Given the description of an element on the screen output the (x, y) to click on. 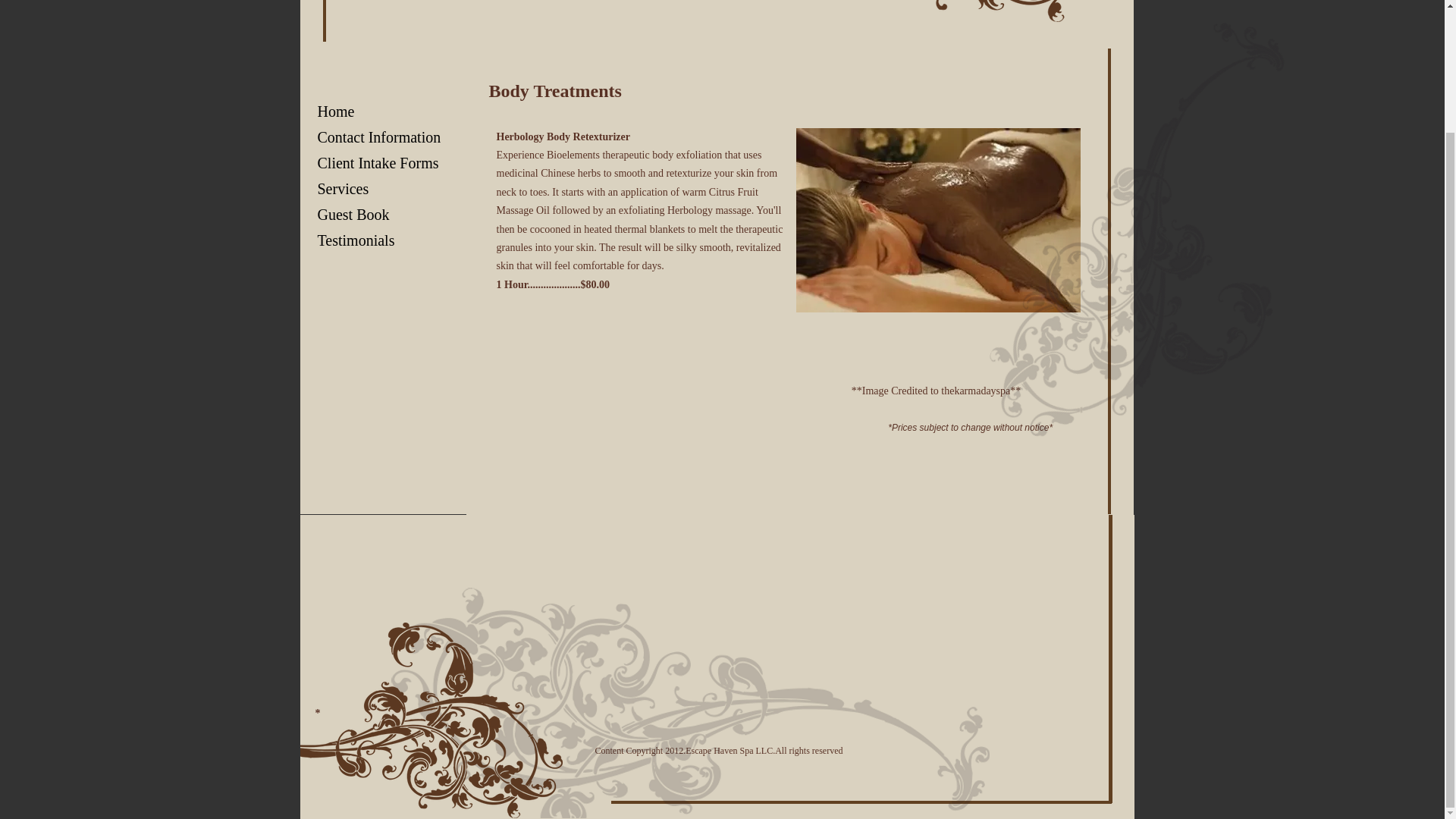
Services (341, 188)
Client Intake Forms (376, 163)
Contact Information (378, 137)
Home (334, 111)
Guest Book (352, 214)
Testimonials (354, 240)
